Given the description of an element on the screen output the (x, y) to click on. 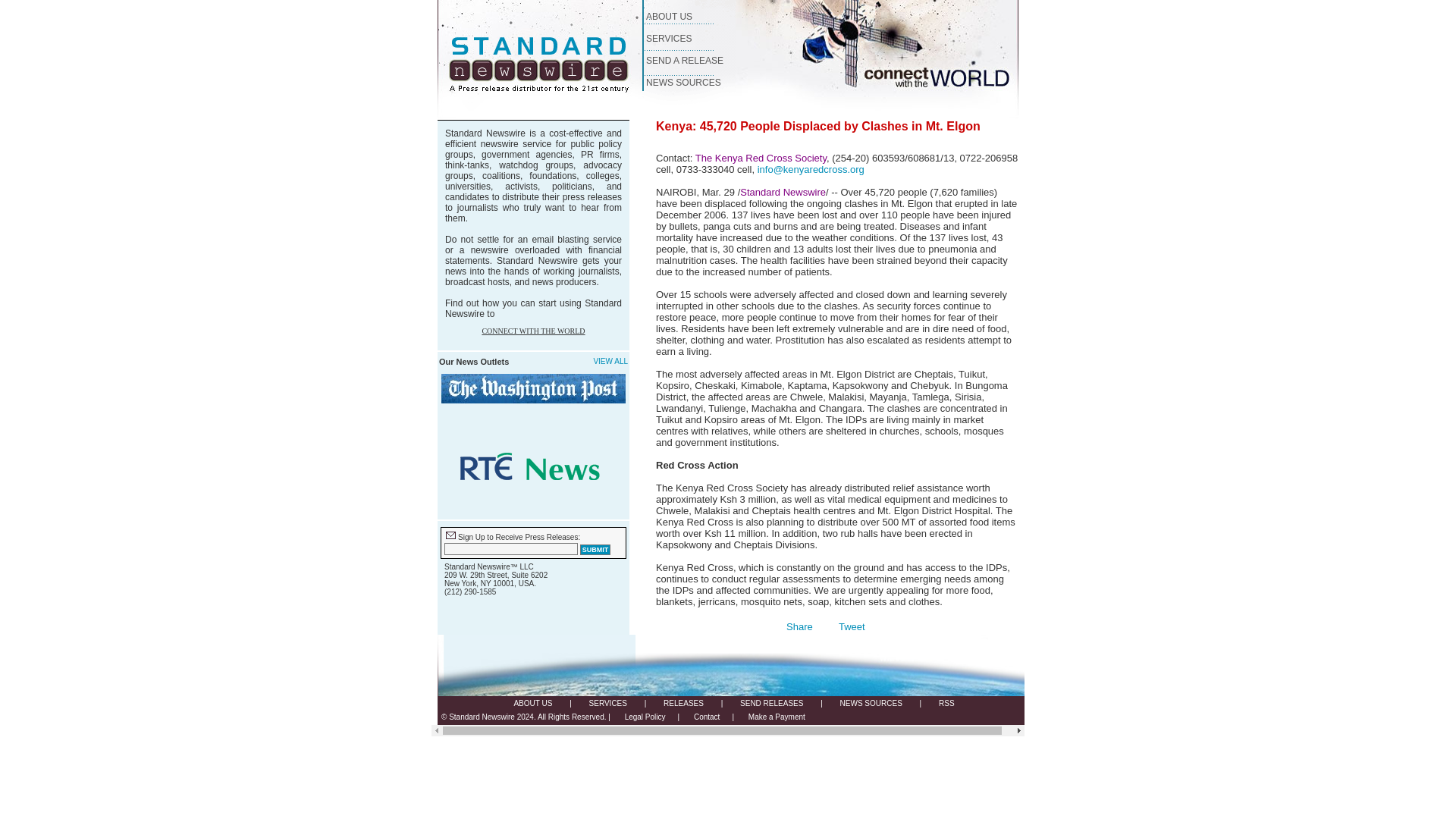
Contact (706, 716)
The Washington Post (533, 388)
SEND A RELEASE (684, 60)
RTE (533, 466)
Tweet (851, 626)
ABOUT US (532, 703)
NEWS SOURCES (871, 703)
SEND RELEASES (771, 703)
RELEASES (683, 703)
CONNECT WITH THE WORLD (533, 330)
